Given the description of an element on the screen output the (x, y) to click on. 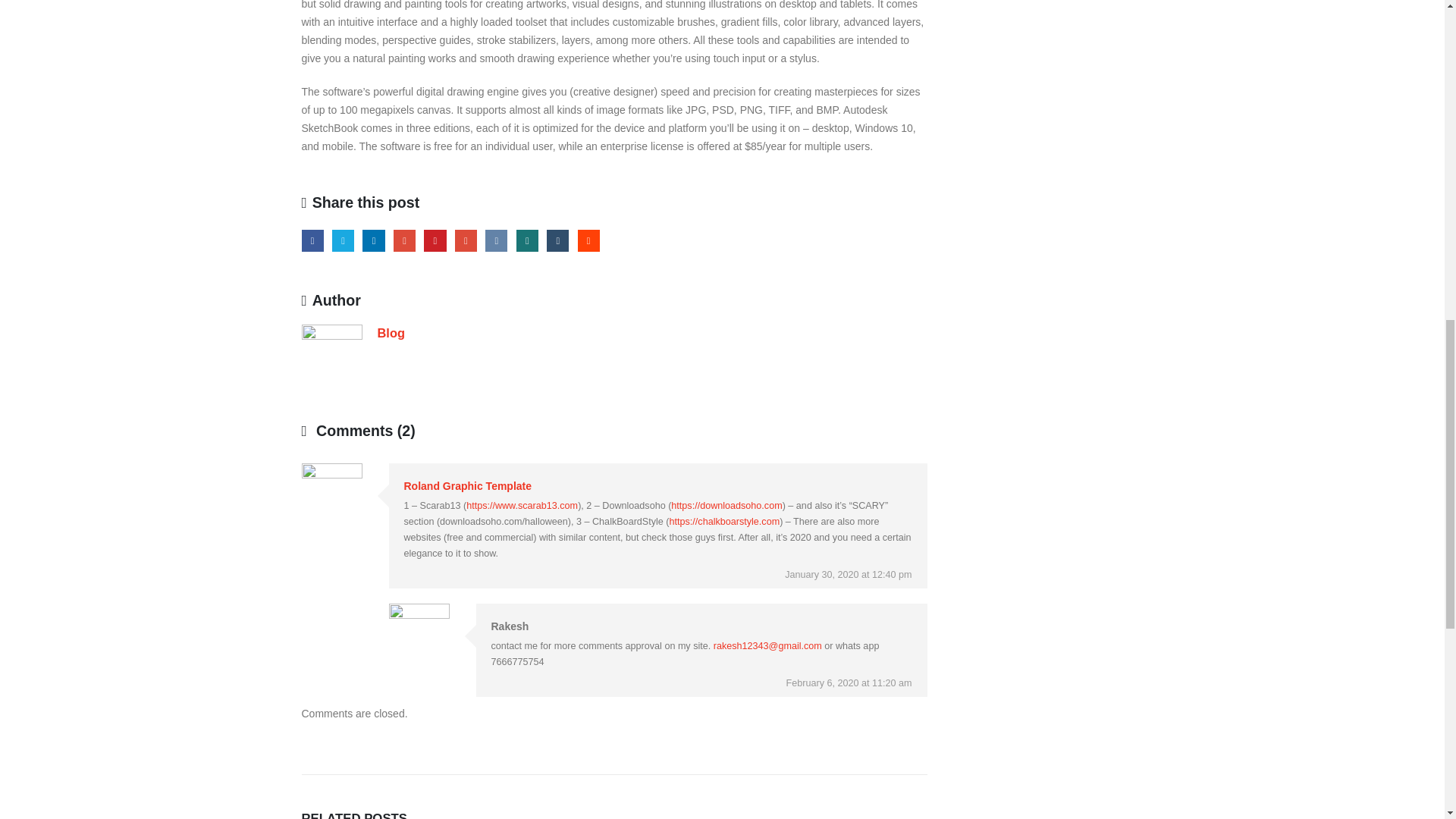
Xing (527, 240)
VK (495, 240)
LinkedIn (373, 240)
Facebook (312, 240)
Email (465, 240)
Twitter (342, 240)
Pinterest (434, 240)
